Given the description of an element on the screen output the (x, y) to click on. 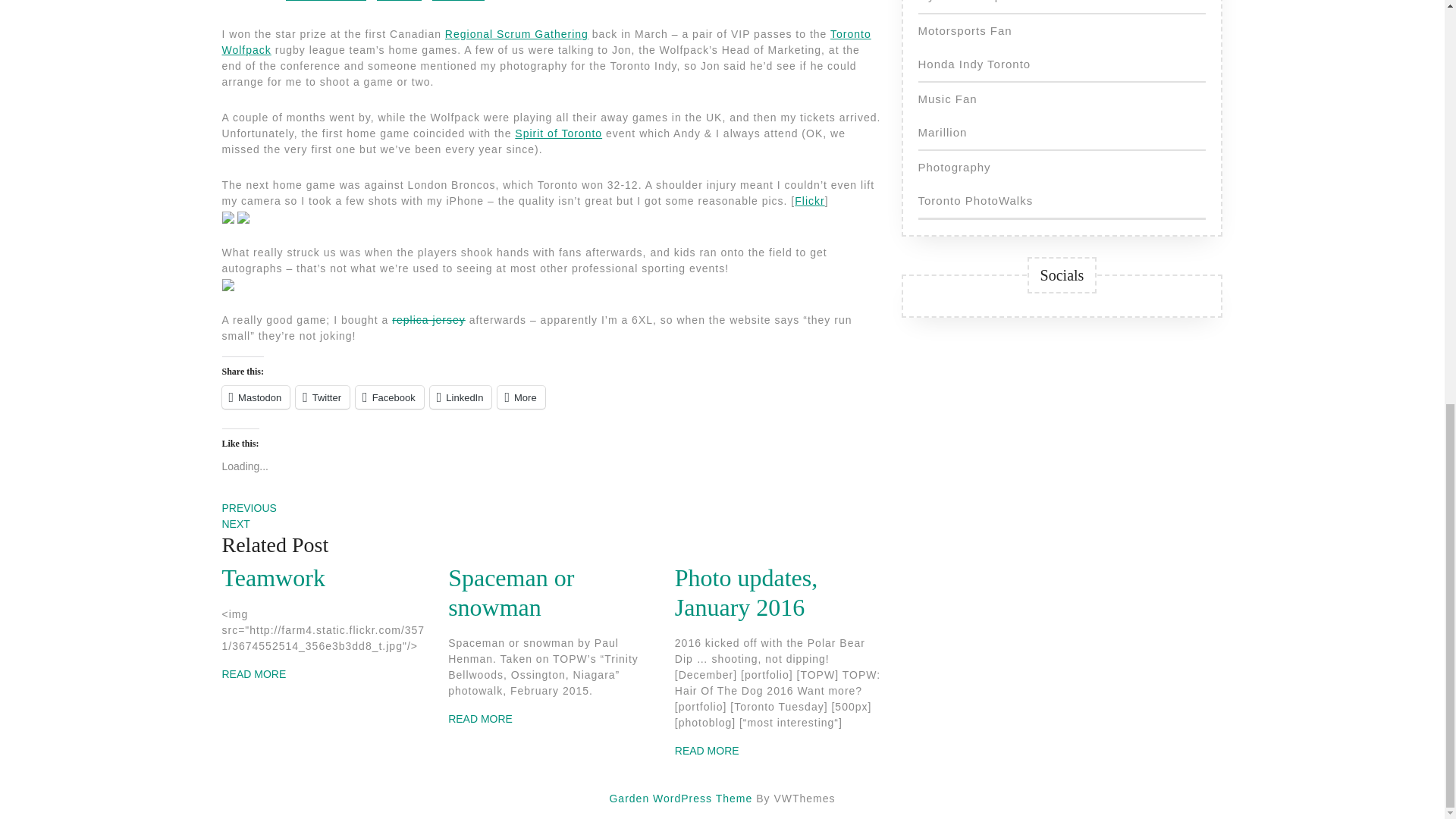
toronto (458, 0)
Click to share on LinkedIn (460, 396)
Regional Scrum Gathering (516, 33)
Mastodon (255, 396)
Facebook (389, 396)
More (520, 396)
Click to share on Facebook (389, 396)
Flickr (809, 200)
replica jersey (427, 319)
rugby (399, 0)
LinkedIn (460, 396)
Click to share on Mastodon (255, 396)
Spirit of Toronto (558, 133)
Toronto Wolfpack (545, 41)
